Given the description of an element on the screen output the (x, y) to click on. 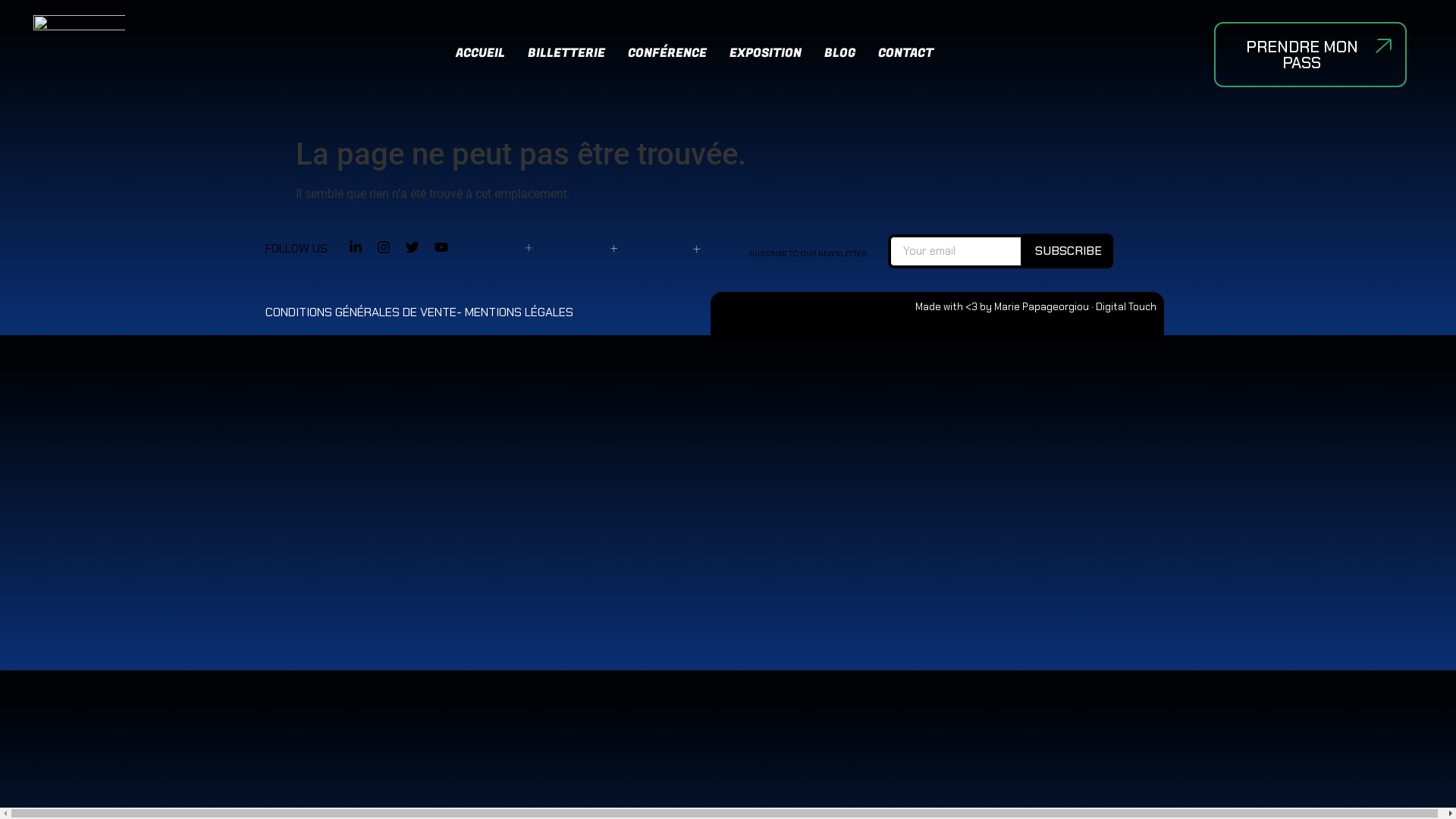
SUBSCRIBE Element type: text (1068, 250)
BLOG Element type: text (839, 52)
CONTACT Element type: text (905, 52)
BILLETTERIE Element type: text (566, 52)
ACCUEIL Element type: text (480, 52)
EXPOSITION Element type: text (765, 52)
